Given the description of an element on the screen output the (x, y) to click on. 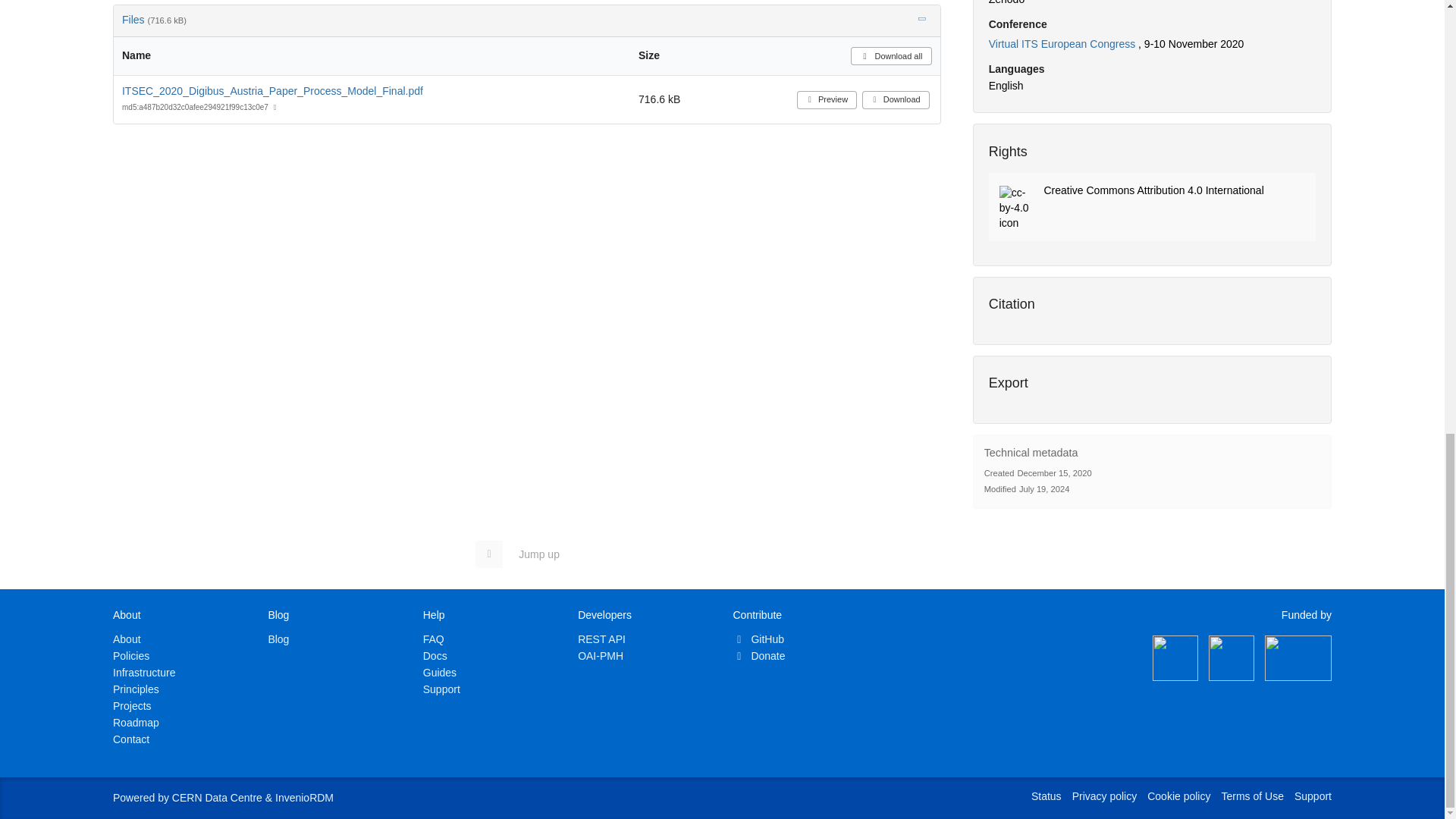
Principles (135, 689)
Guides (440, 672)
Preview (826, 99)
Download all (890, 55)
Jump up (525, 554)
Roadmap (135, 722)
Contact (131, 739)
Blog (277, 639)
Projects (132, 705)
Download (895, 99)
